Given the description of an element on the screen output the (x, y) to click on. 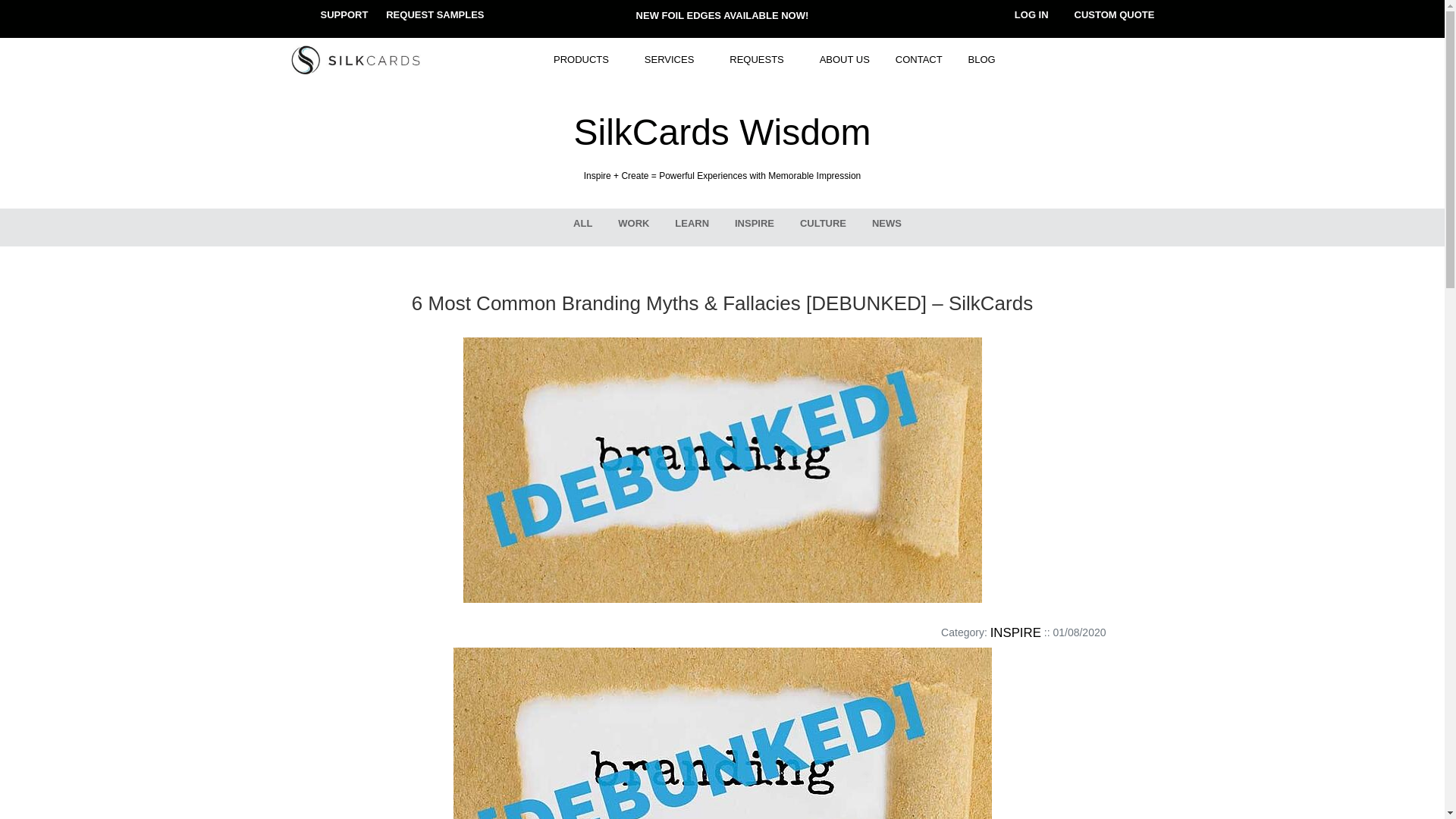
SUPPORT (344, 14)
CUSTOM QUOTE (1114, 14)
LOG IN (1031, 14)
CONTACT (918, 60)
REQUEST SAMPLES (434, 14)
REQUESTS (761, 60)
ABOUT US (844, 60)
SERVICES (674, 60)
PRODUCTS (585, 60)
